Given the description of an element on the screen output the (x, y) to click on. 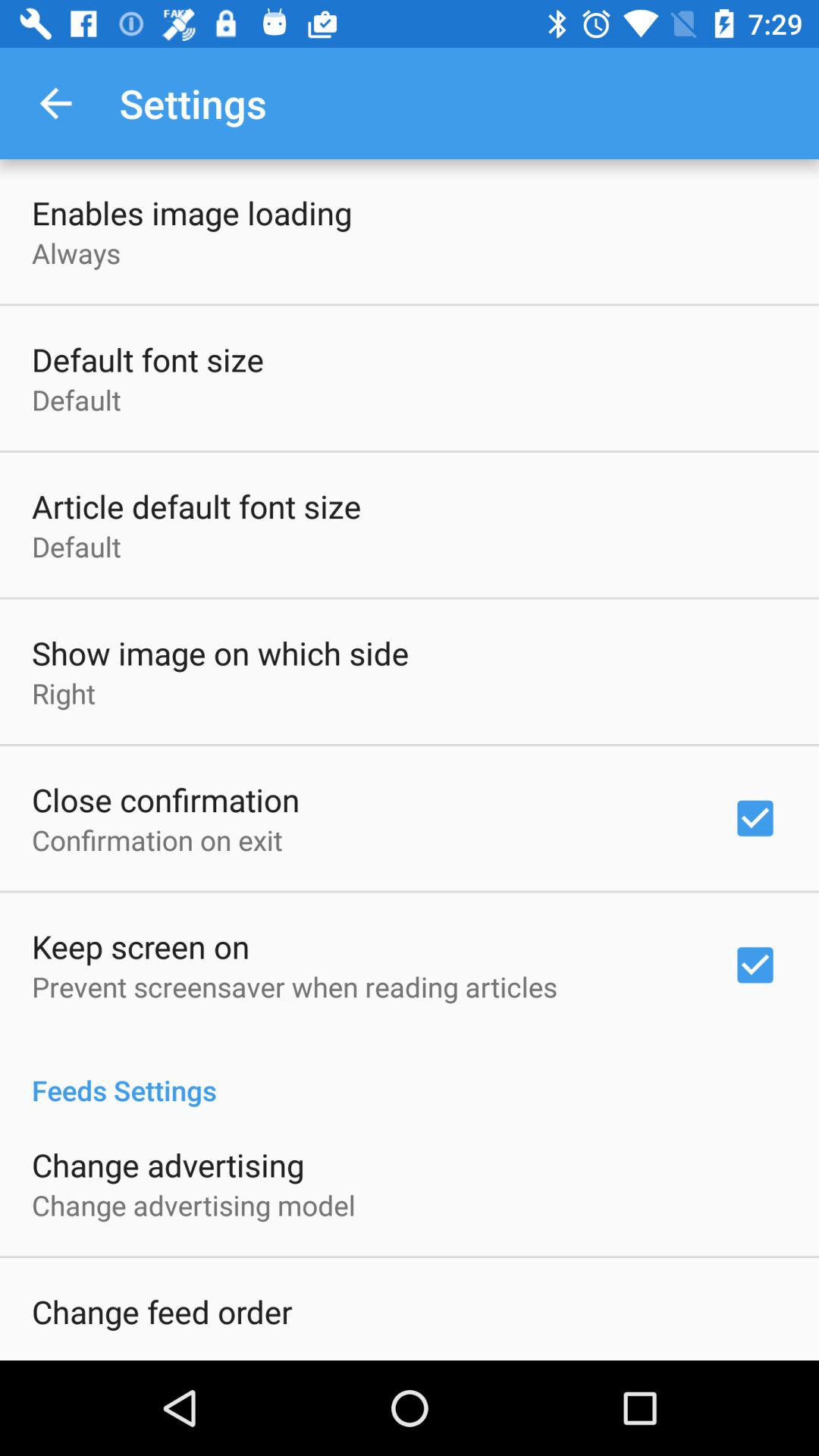
click item above right icon (219, 652)
